Given the description of an element on the screen output the (x, y) to click on. 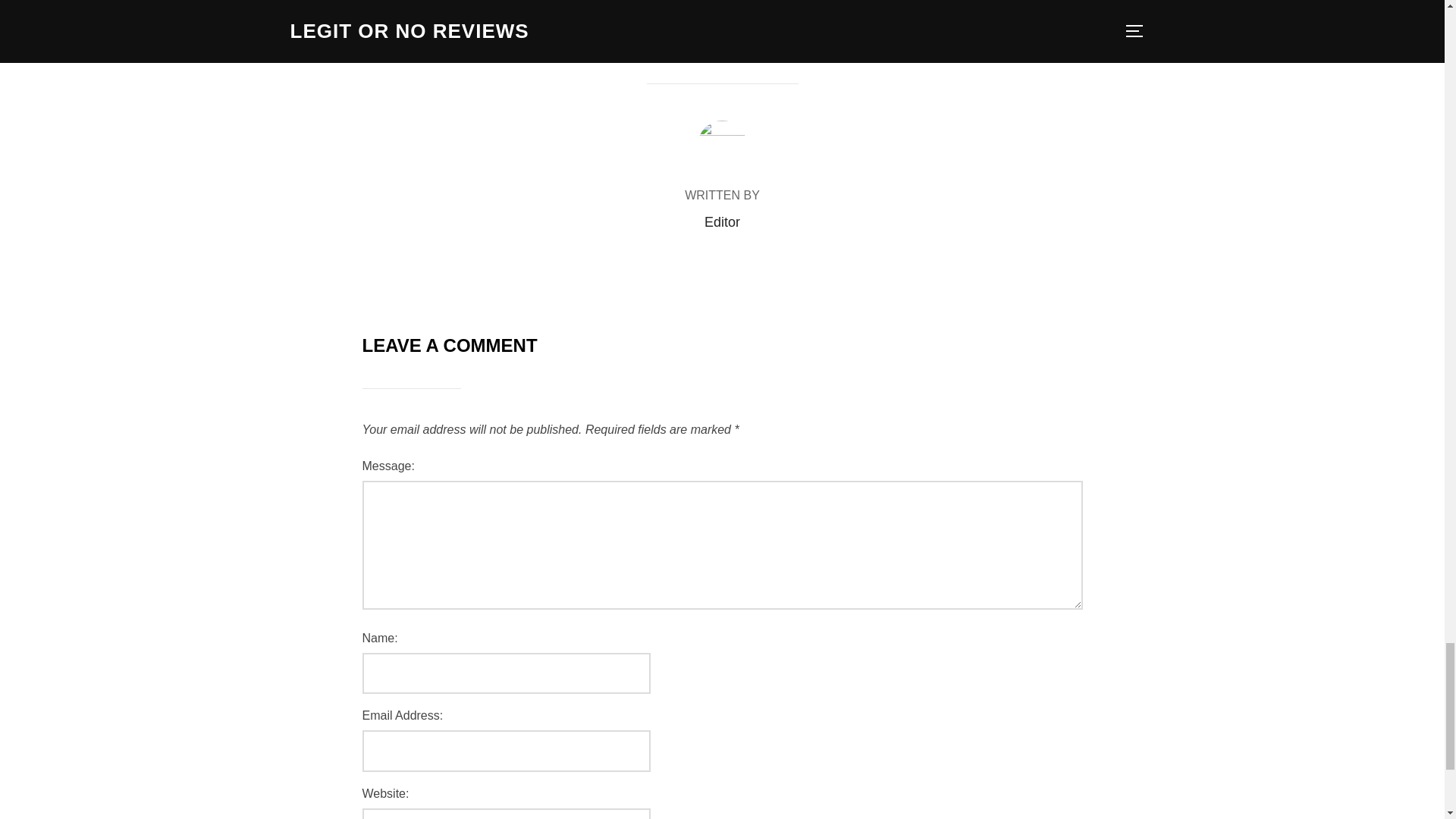
Posts by Editor (721, 222)
UltraX Night Vision Goggles  review (722, 35)
Editor (721, 222)
